Given the description of an element on the screen output the (x, y) to click on. 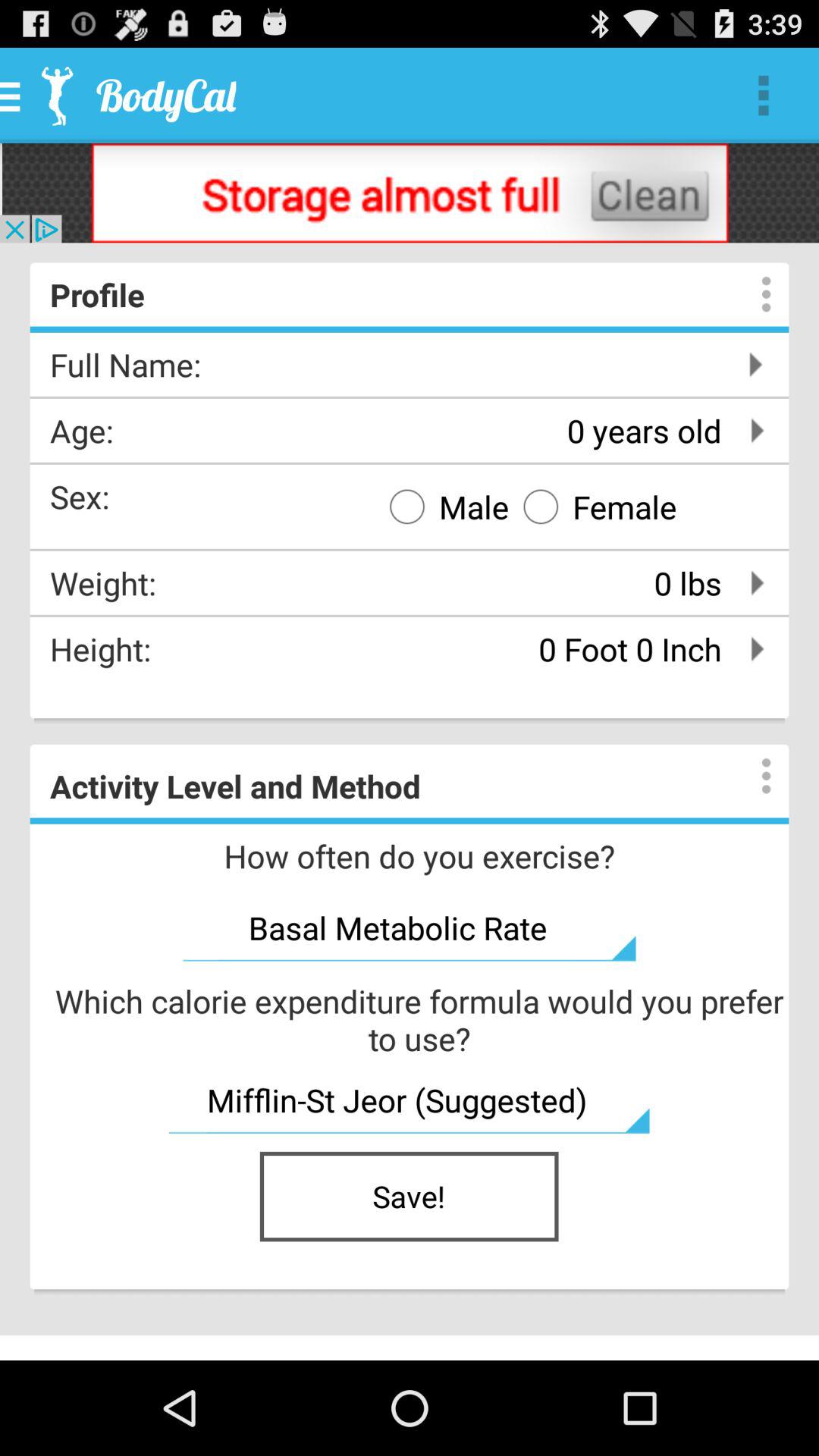
open setting (750, 294)
